Given the description of an element on the screen output the (x, y) to click on. 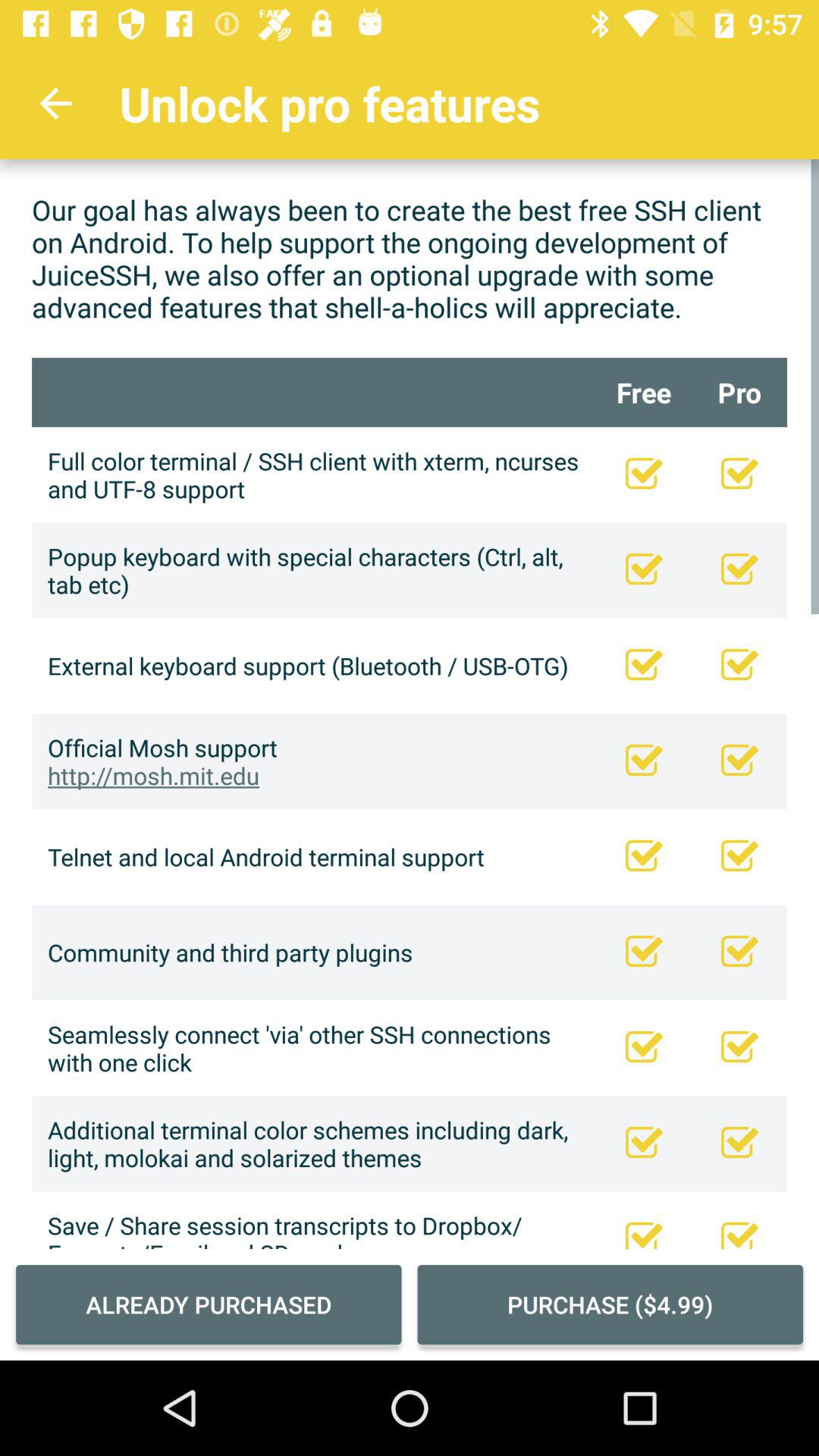
turn on app to the left of unlock pro features icon (55, 103)
